Given the description of an element on the screen output the (x, y) to click on. 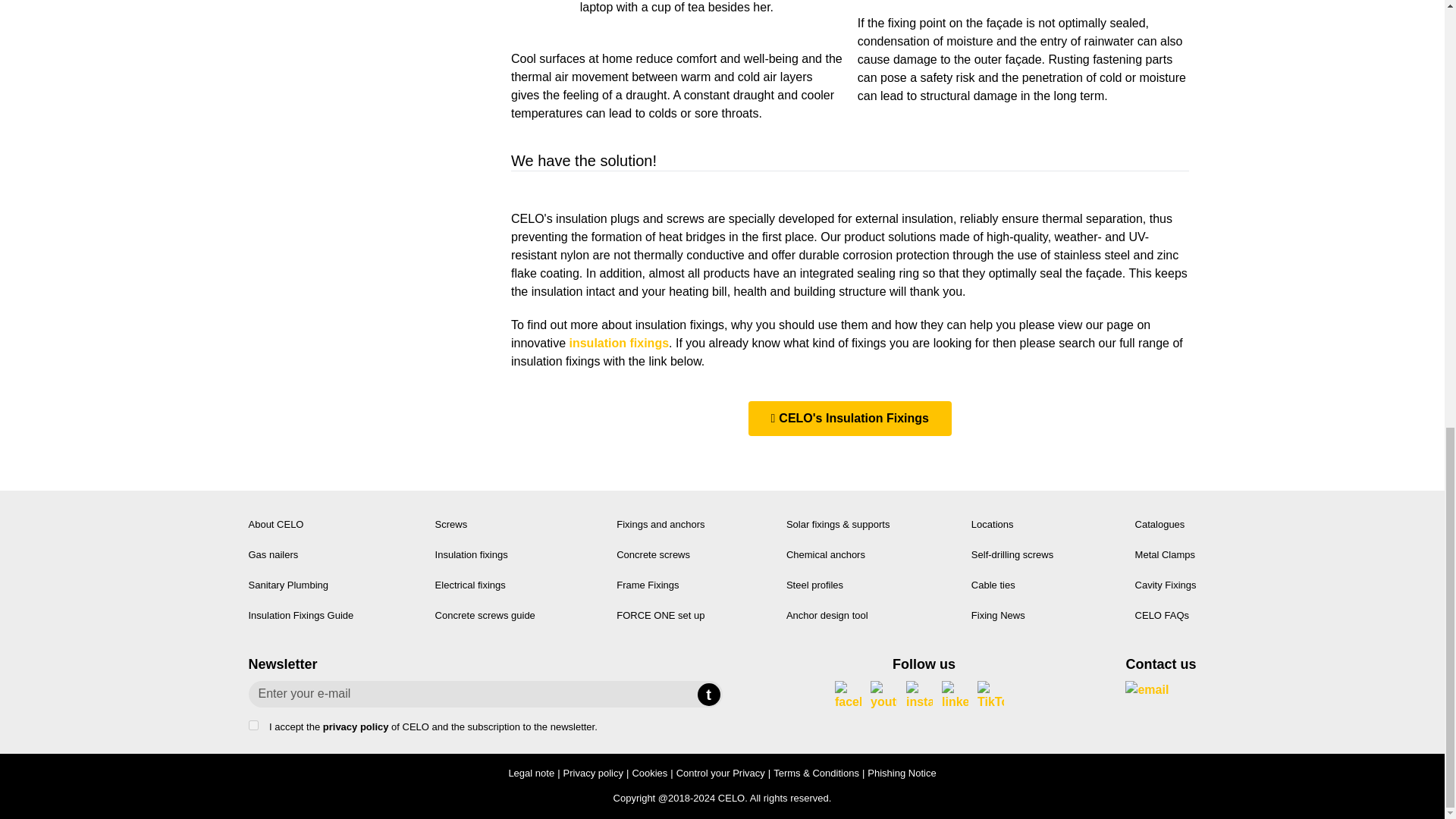
email (1158, 689)
on (253, 725)
privacy policy  (355, 726)
t (708, 694)
